Given the description of an element on the screen output the (x, y) to click on. 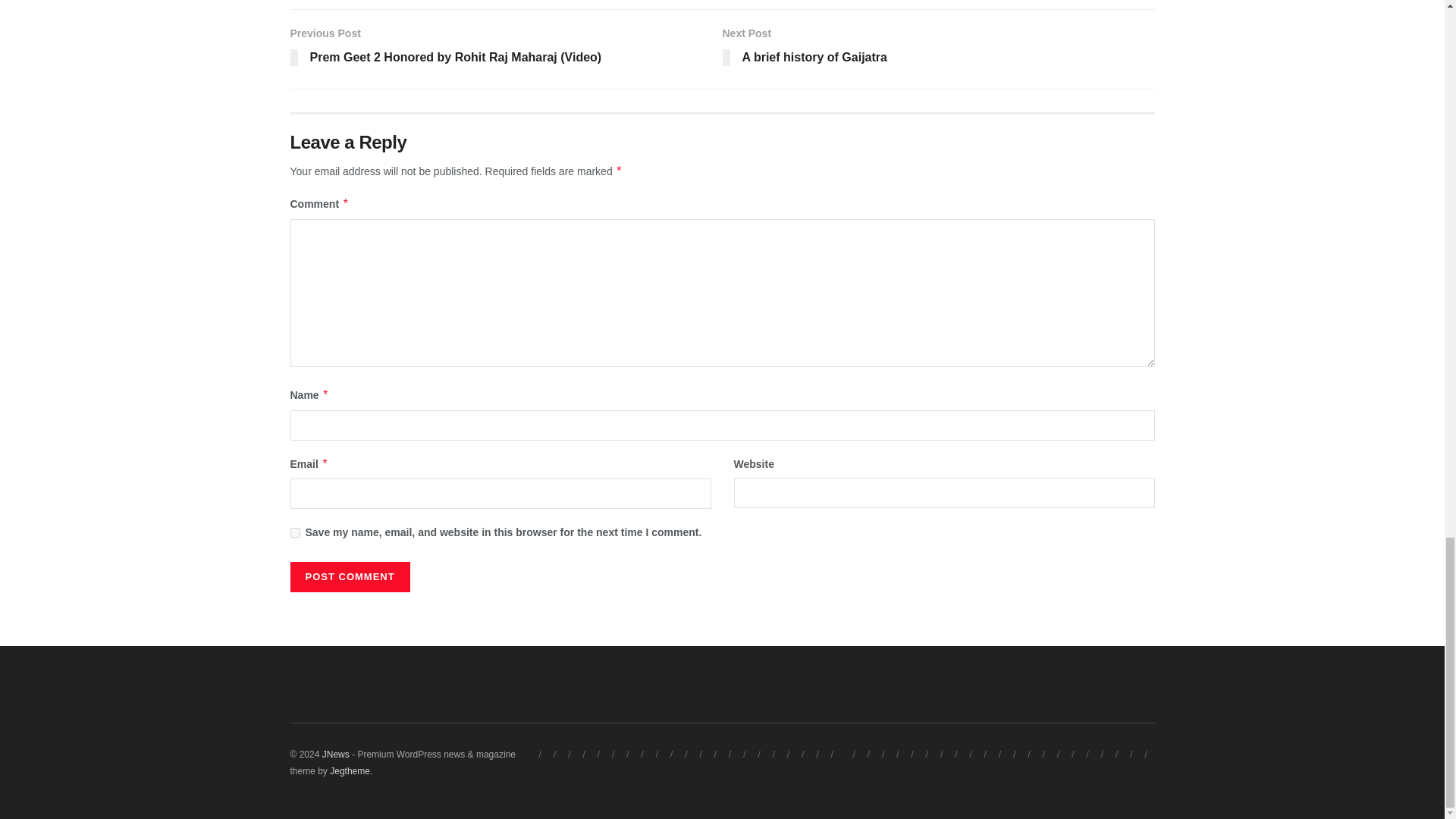
Post Comment (349, 576)
yes (294, 532)
Jegtheme (349, 770)
